Given the description of an element on the screen output the (x, y) to click on. 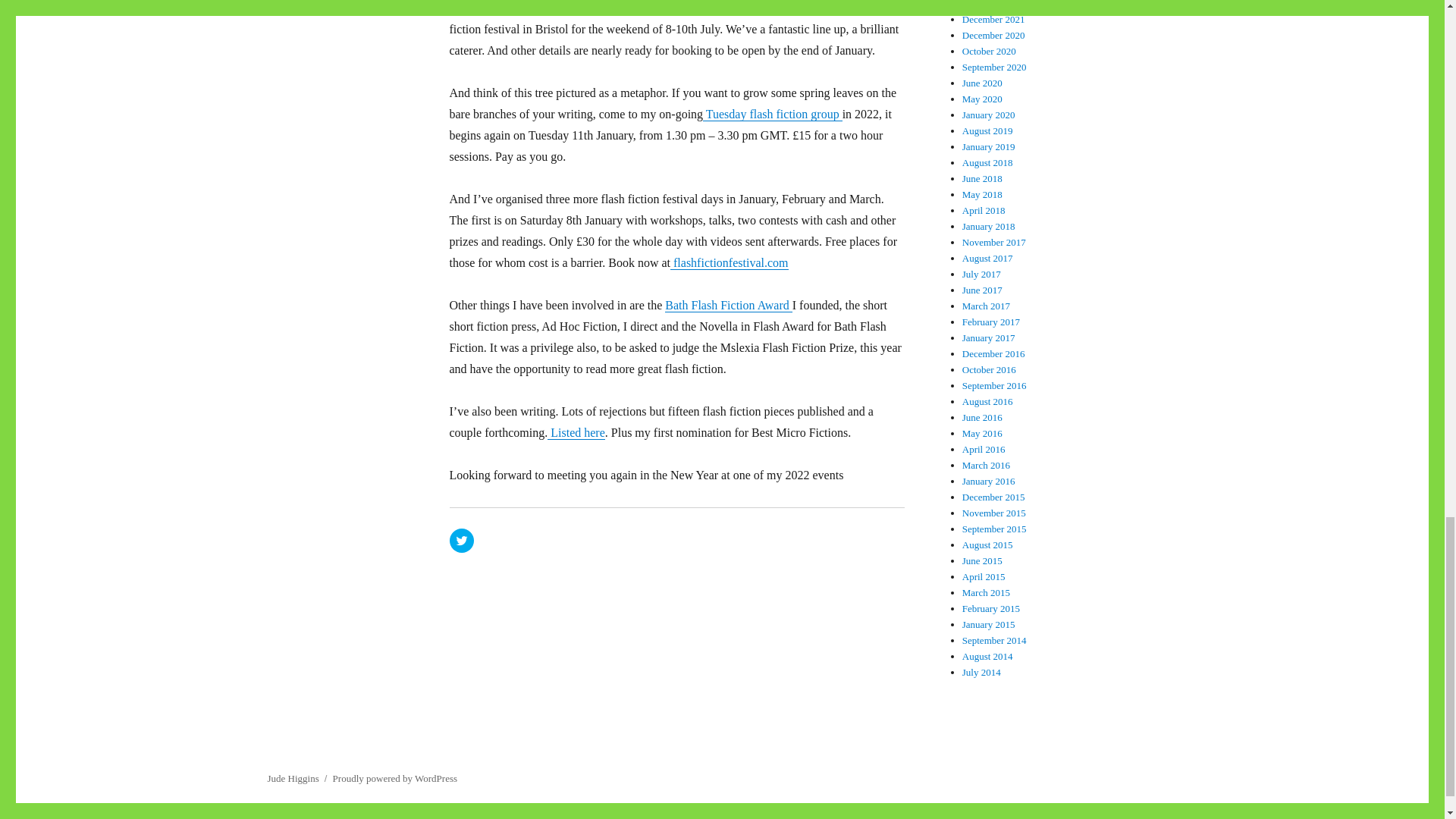
Click to share on Twitter (460, 540)
Tuesday flash fiction group (773, 113)
Bath Flash Fiction Award (728, 305)
flashfictionfestival.com (729, 262)
Listed here (576, 431)
